Given the description of an element on the screen output the (x, y) to click on. 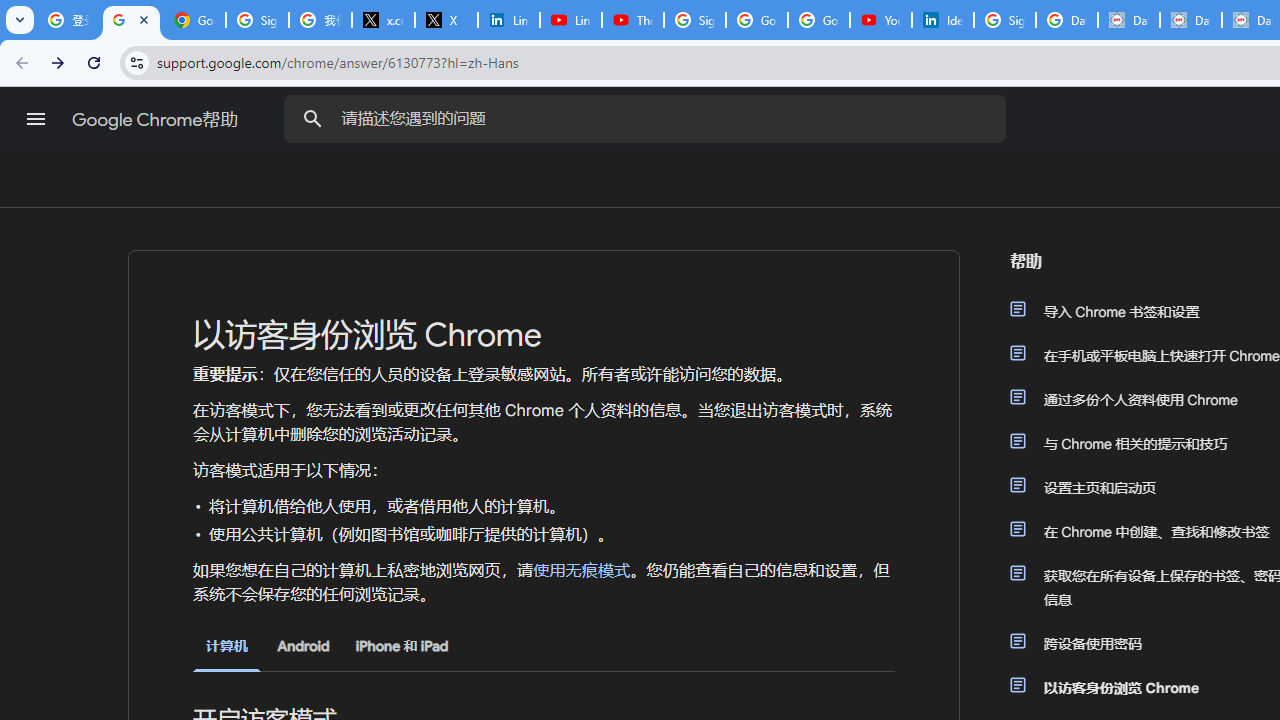
Data Privacy Framework (1190, 20)
Data Privacy Framework (1128, 20)
Sign in - Google Accounts (257, 20)
